Given the description of an element on the screen output the (x, y) to click on. 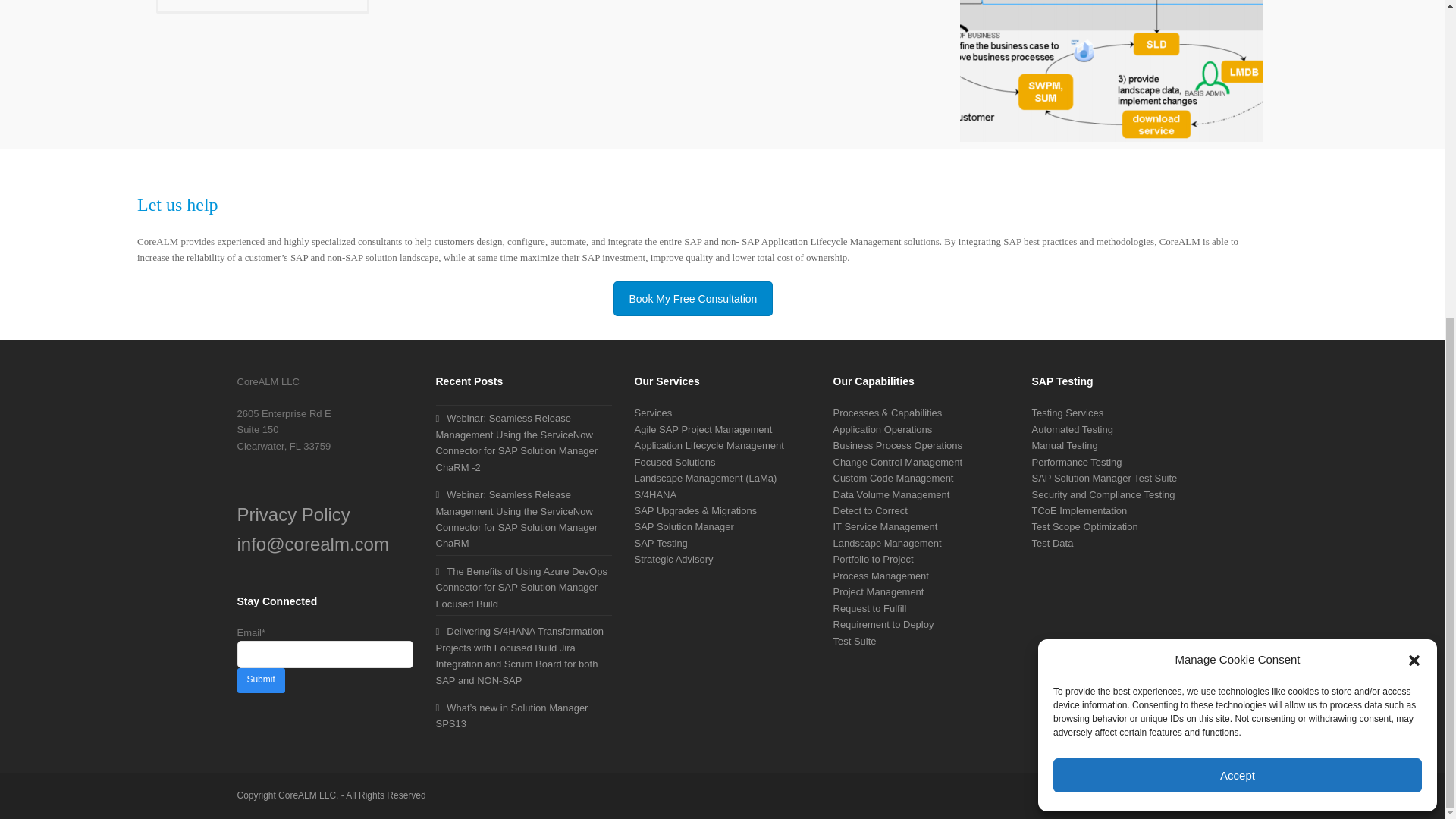
Submit (259, 680)
LM (1111, 70)
Accept (1237, 261)
Free Consultation (262, 6)
